Given the description of an element on the screen output the (x, y) to click on. 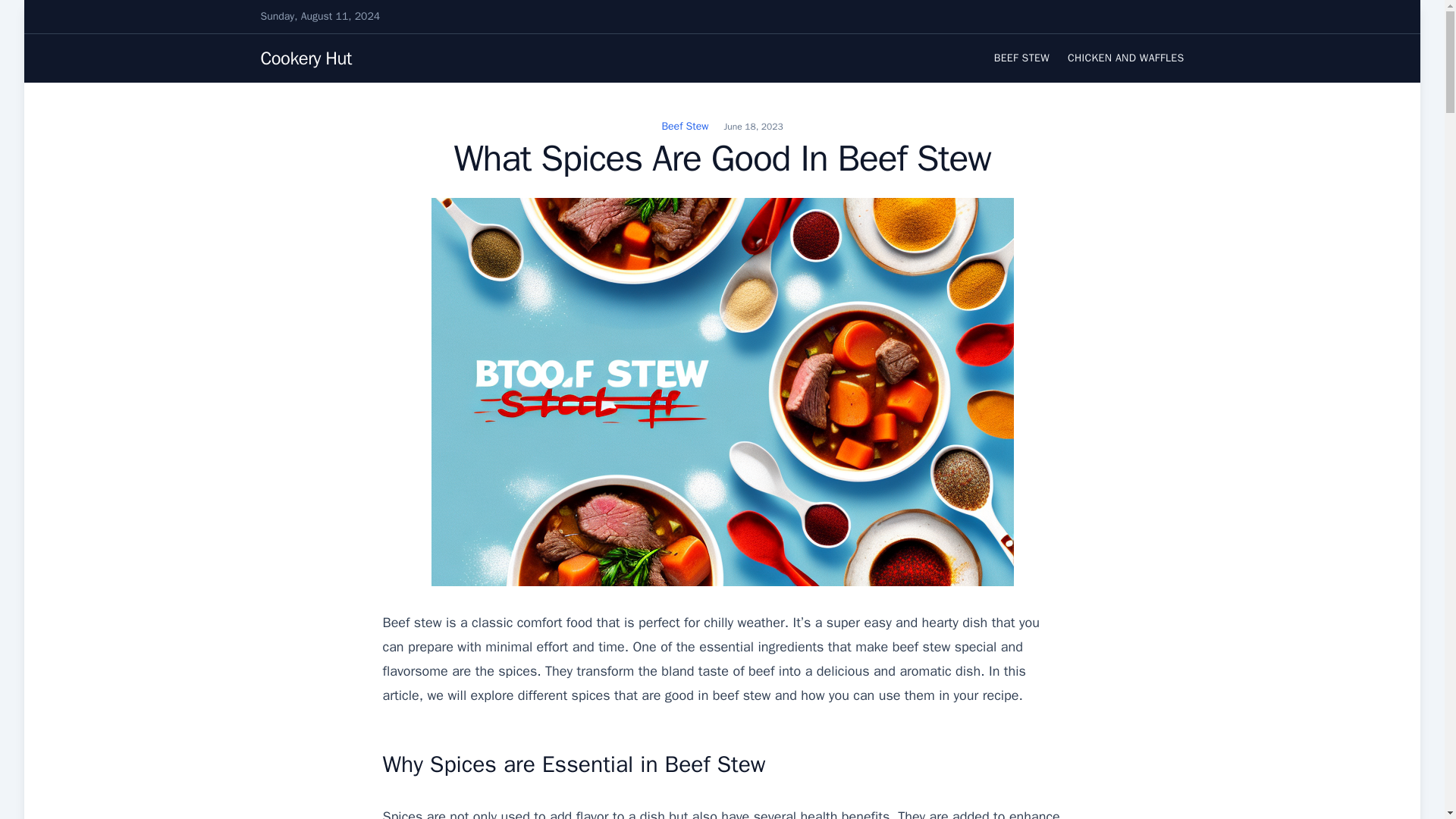
June 18, 2023 (753, 126)
BEEF STEW (1021, 57)
Cookery Hut (306, 57)
CHICKEN AND WAFFLES (1126, 57)
Beef Stew (684, 125)
